Given the description of an element on the screen output the (x, y) to click on. 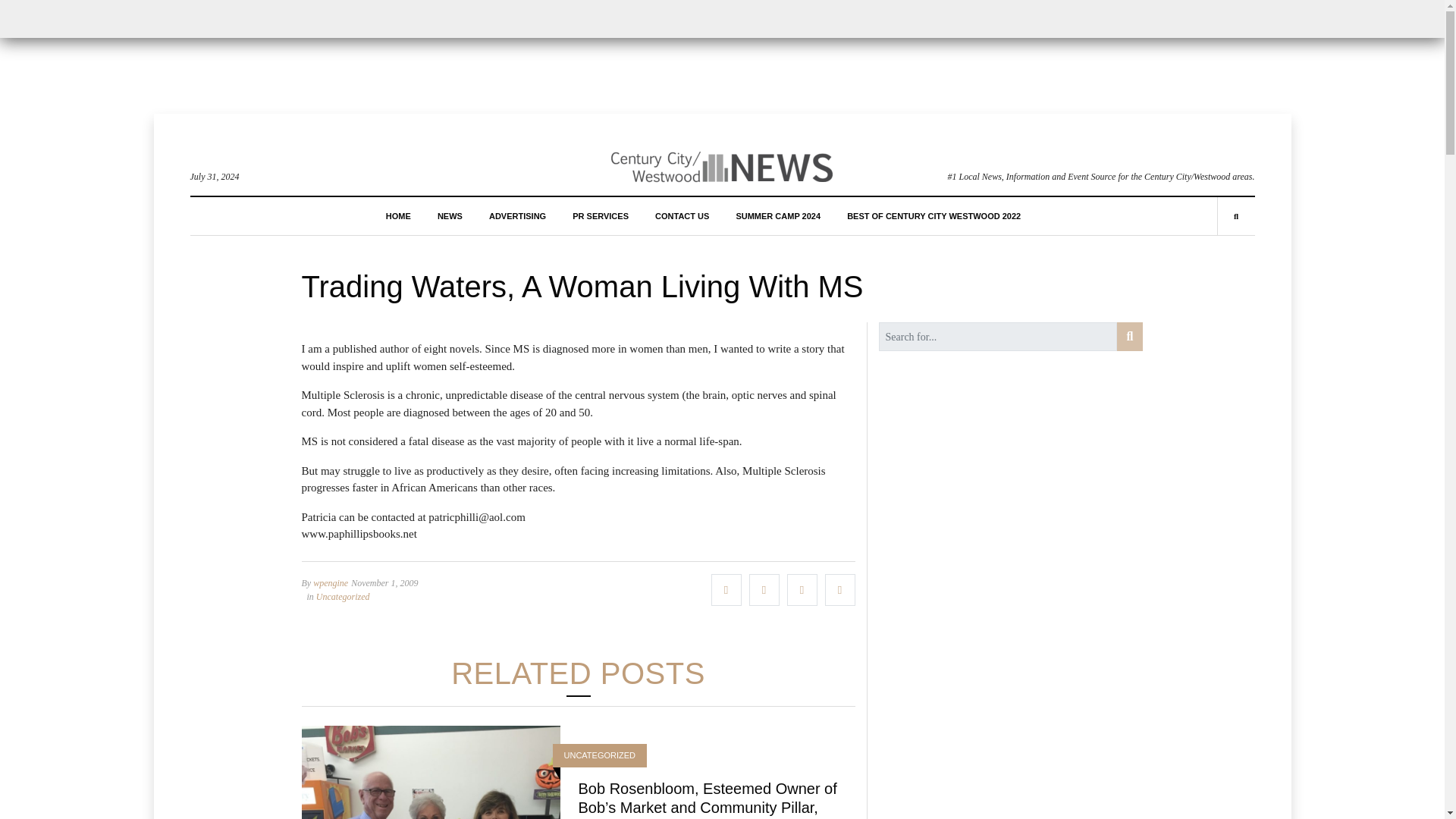
Posts by wpengine (330, 583)
SUMMER CAMP 2024 (778, 216)
CONTACT US (682, 216)
PR SERVICES (600, 216)
BEST OF CENTURY CITY WESTWOOD 2022 (933, 216)
3rd party ad content (721, 52)
ADVERTISING (517, 216)
wpengine (330, 583)
